Given the description of an element on the screen output the (x, y) to click on. 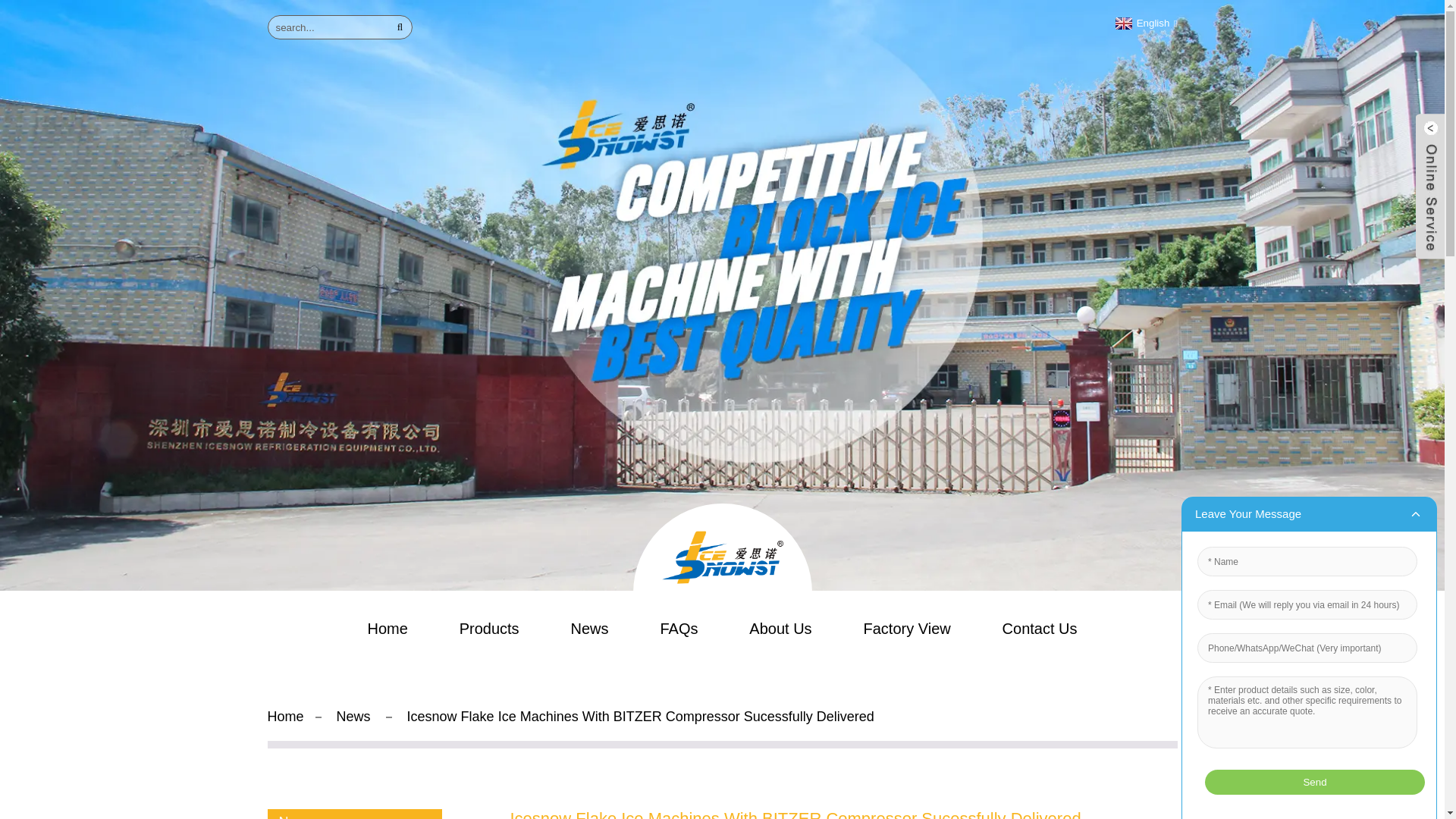
English (1144, 22)
